Given the description of an element on the screen output the (x, y) to click on. 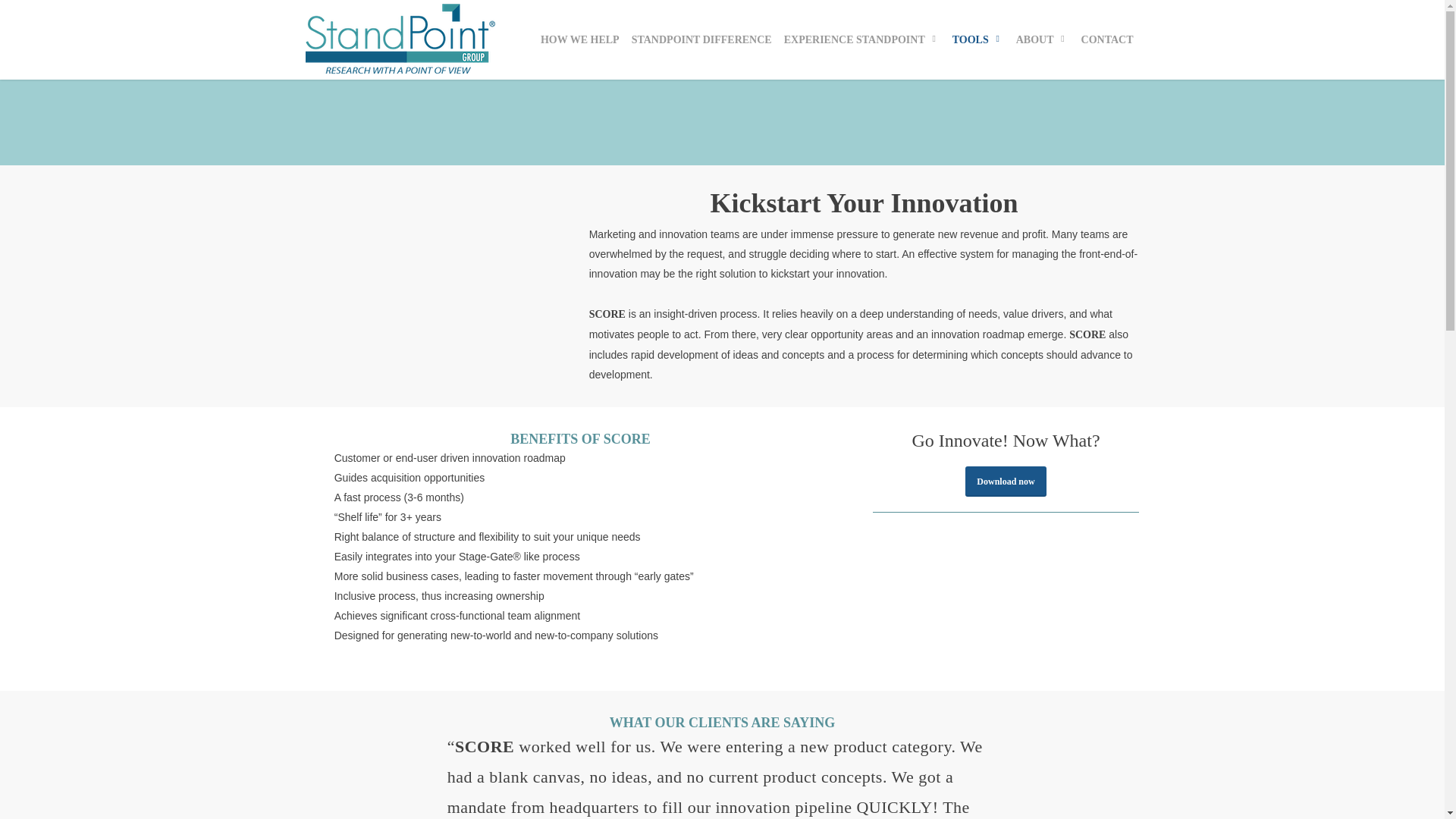
Connect on LinkedIn (352, 727)
The Death of Surveys? (785, 695)
ABOUT (1042, 38)
STANDPOINT DIFFERENCE (701, 38)
HOW WE HELP (580, 38)
TOOLS (978, 38)
CONTACT (1107, 38)
You Said Fill the Pipeline (788, 630)
Move Beyond the Table Stakes (803, 662)
EXPERIENCE STANDPOINT (861, 38)
Download now (1005, 481)
